Given the description of an element on the screen output the (x, y) to click on. 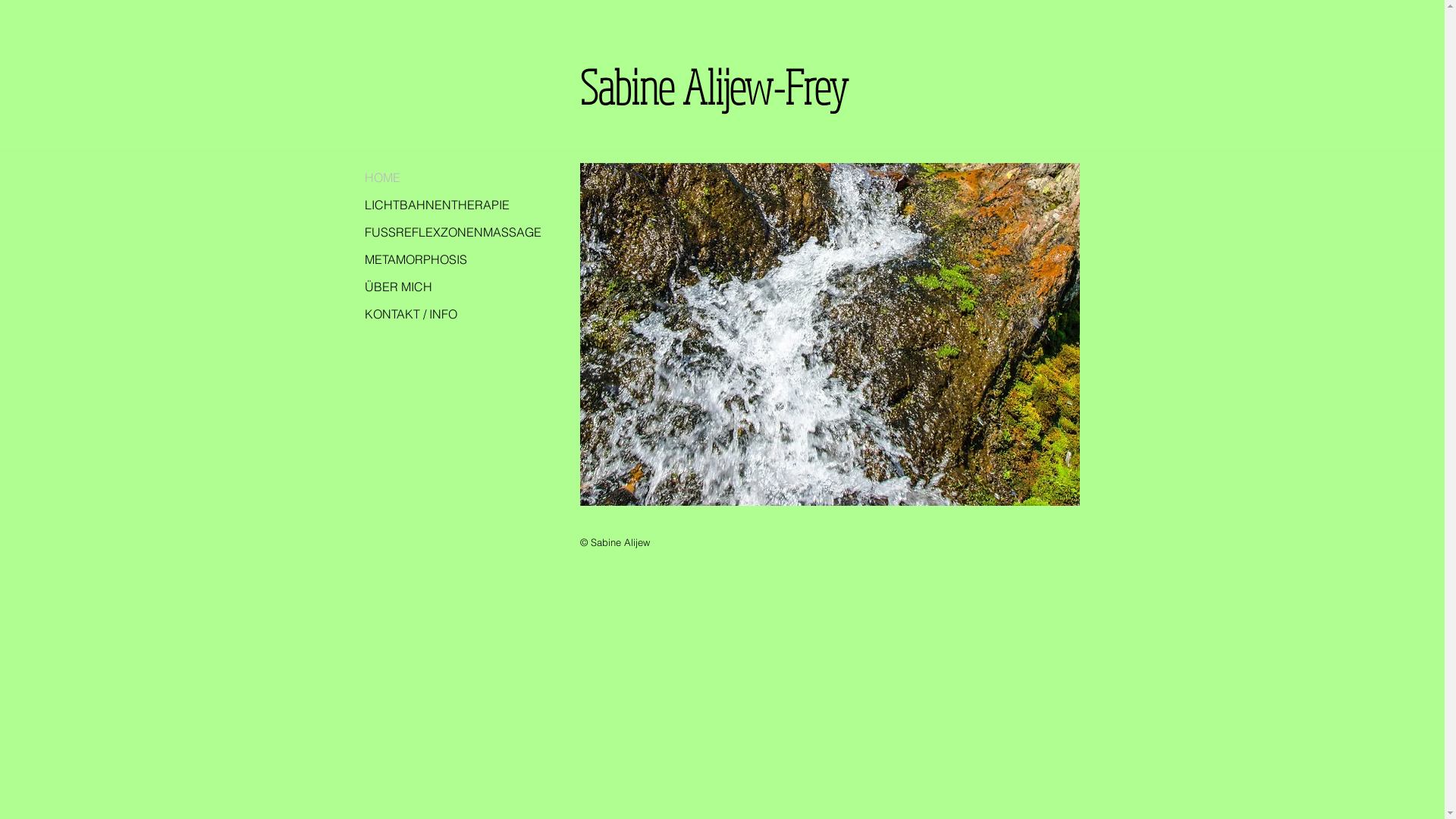
LICHTBAHNENTHERAPIE Element type: text (455, 204)
DSC_2730-2.jpg Element type: hover (829, 334)
FUSSREFLEXZONENMASSAGE Element type: text (455, 231)
HOME Element type: text (455, 177)
METAMORPHOSIS Element type: text (455, 259)
KONTAKT / INFO Element type: text (455, 313)
